Given the description of an element on the screen output the (x, y) to click on. 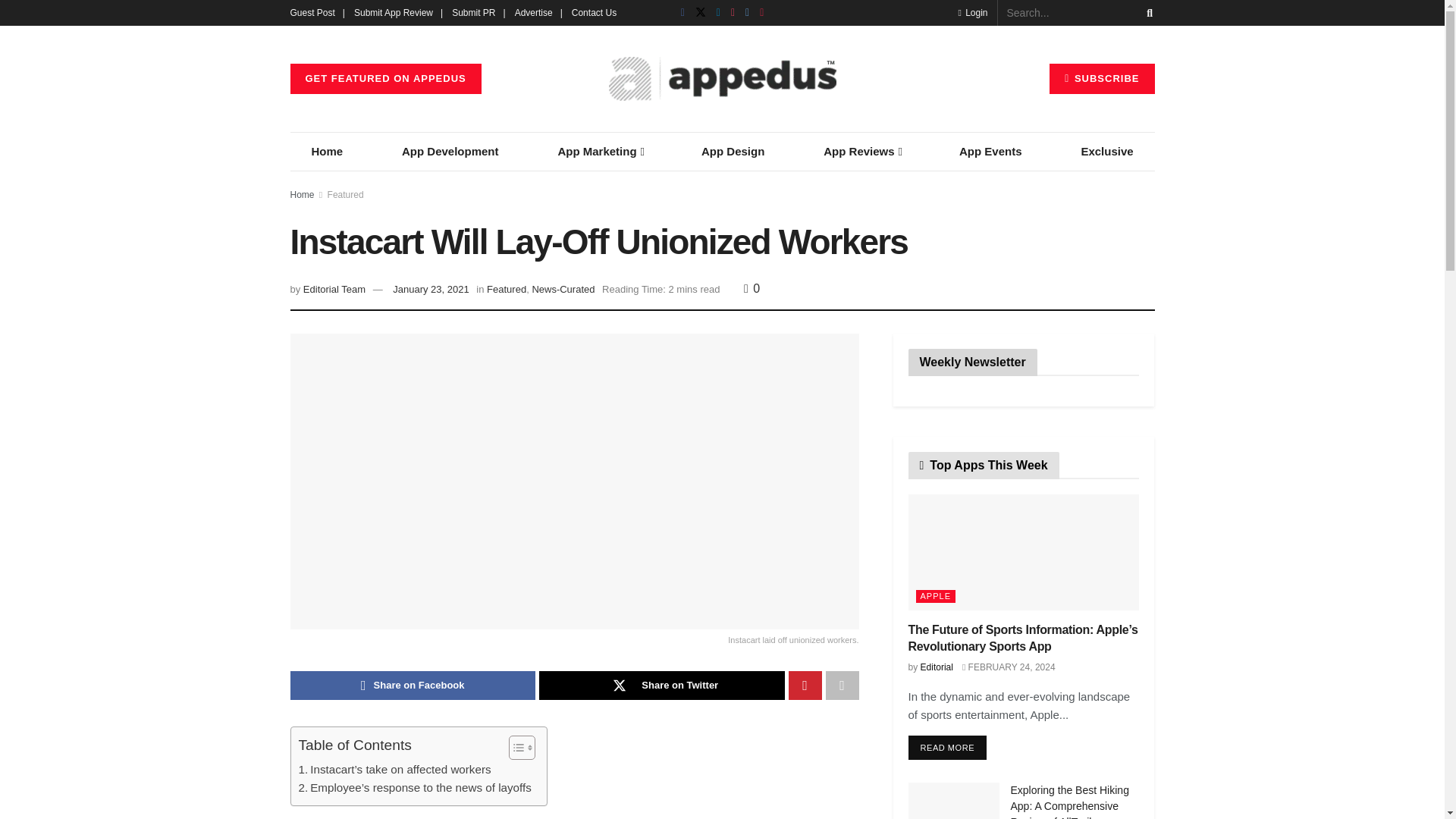
App Marketing (599, 151)
Login (972, 12)
GET FEATURED ON APPEDUS (384, 78)
Contact Us (593, 12)
App Development (449, 151)
Home (326, 151)
App Design (732, 151)
SUBSCRIBE (1101, 78)
App Reviews (861, 151)
